Given the description of an element on the screen output the (x, y) to click on. 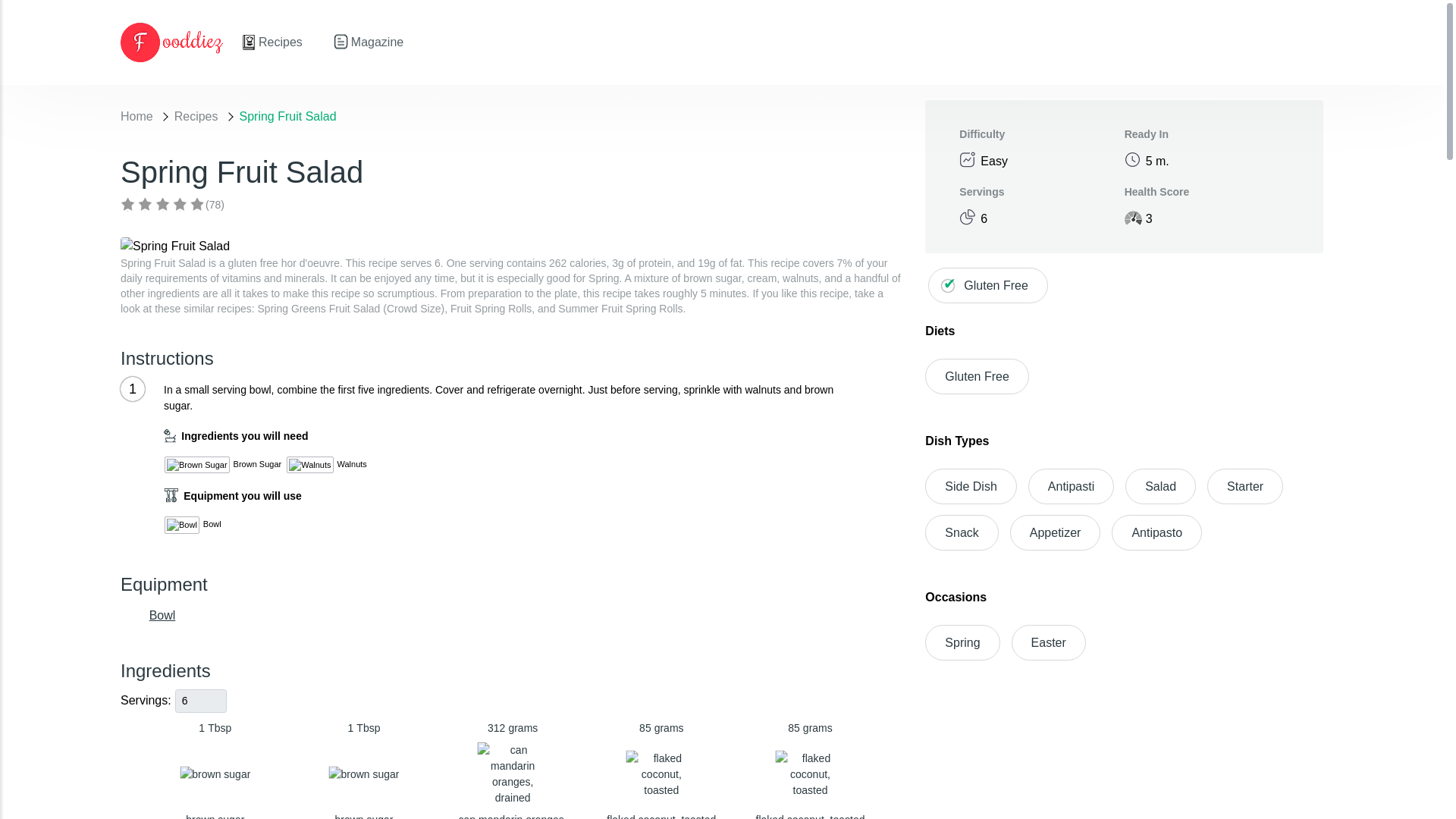
Salad (1160, 486)
Antipasti (809, 769)
Snack (1070, 486)
Easter (960, 532)
Spring (1048, 642)
Gluten Free (961, 642)
Bowl (975, 375)
Spring Fruit Salad (162, 614)
